Given the description of an element on the screen output the (x, y) to click on. 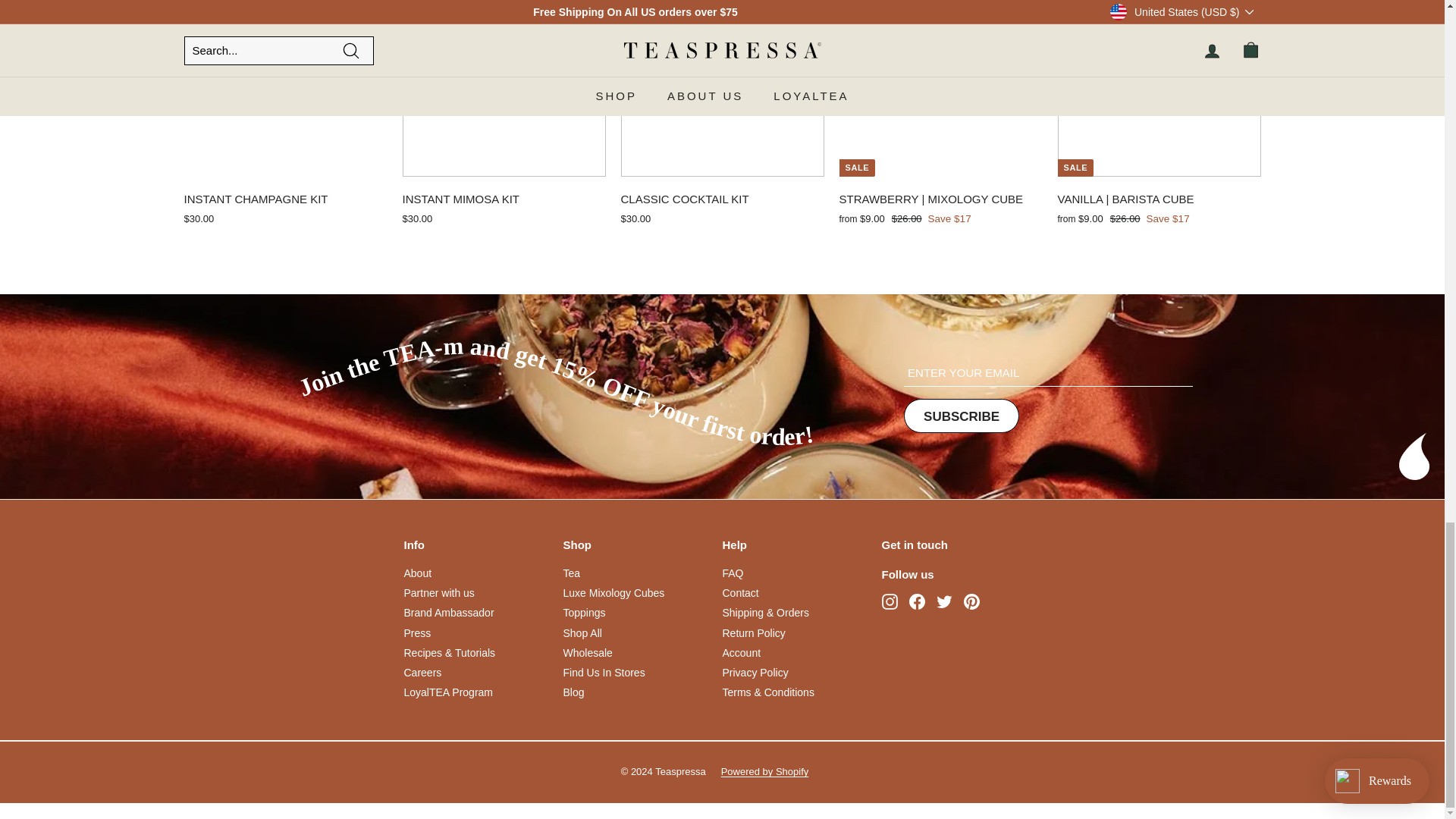
Teaspressa on Facebook (916, 601)
Teaspressa on Instagram (888, 601)
